Given the description of an element on the screen output the (x, y) to click on. 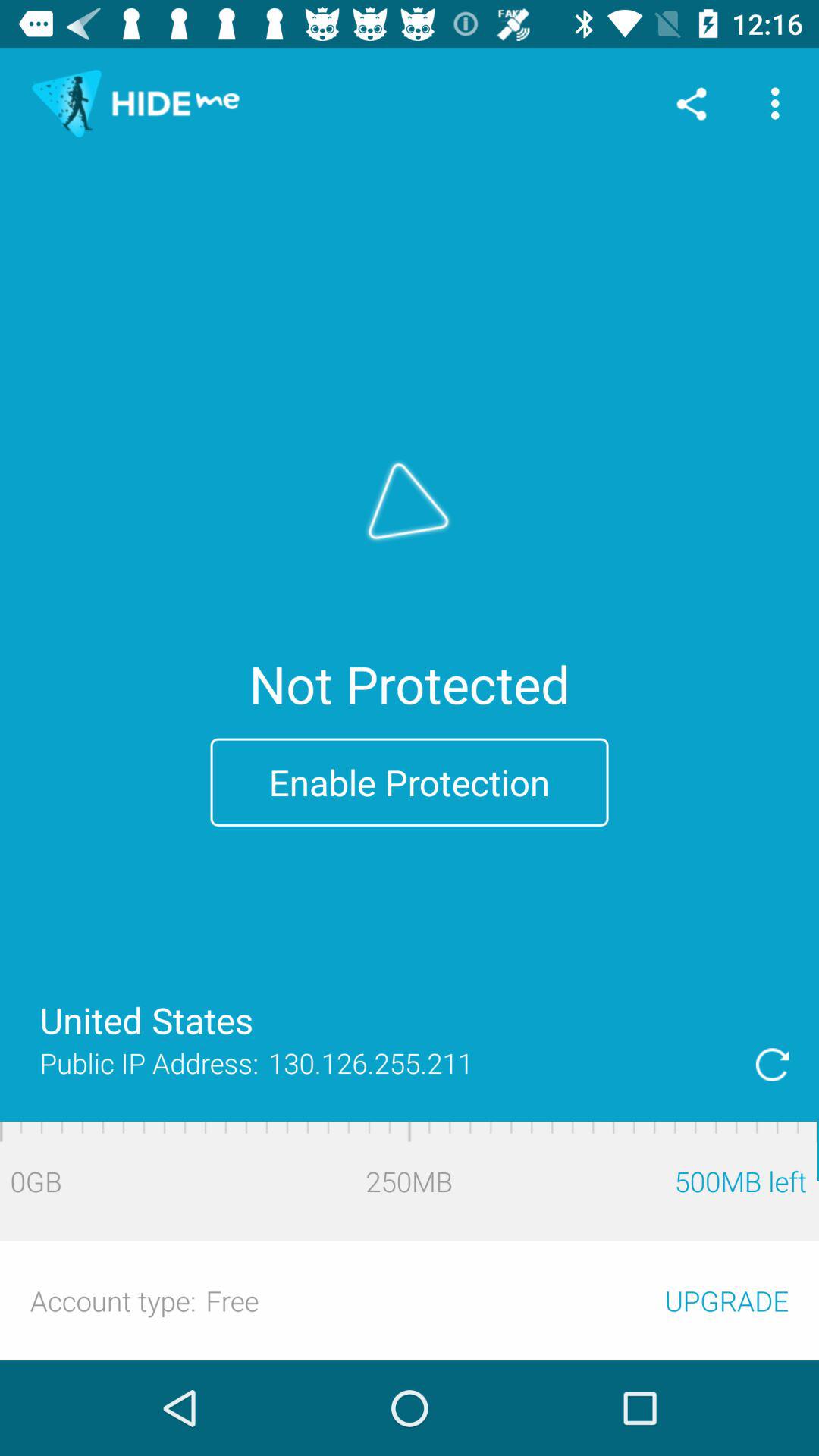
refresh the app (772, 1064)
